Given the description of an element on the screen output the (x, y) to click on. 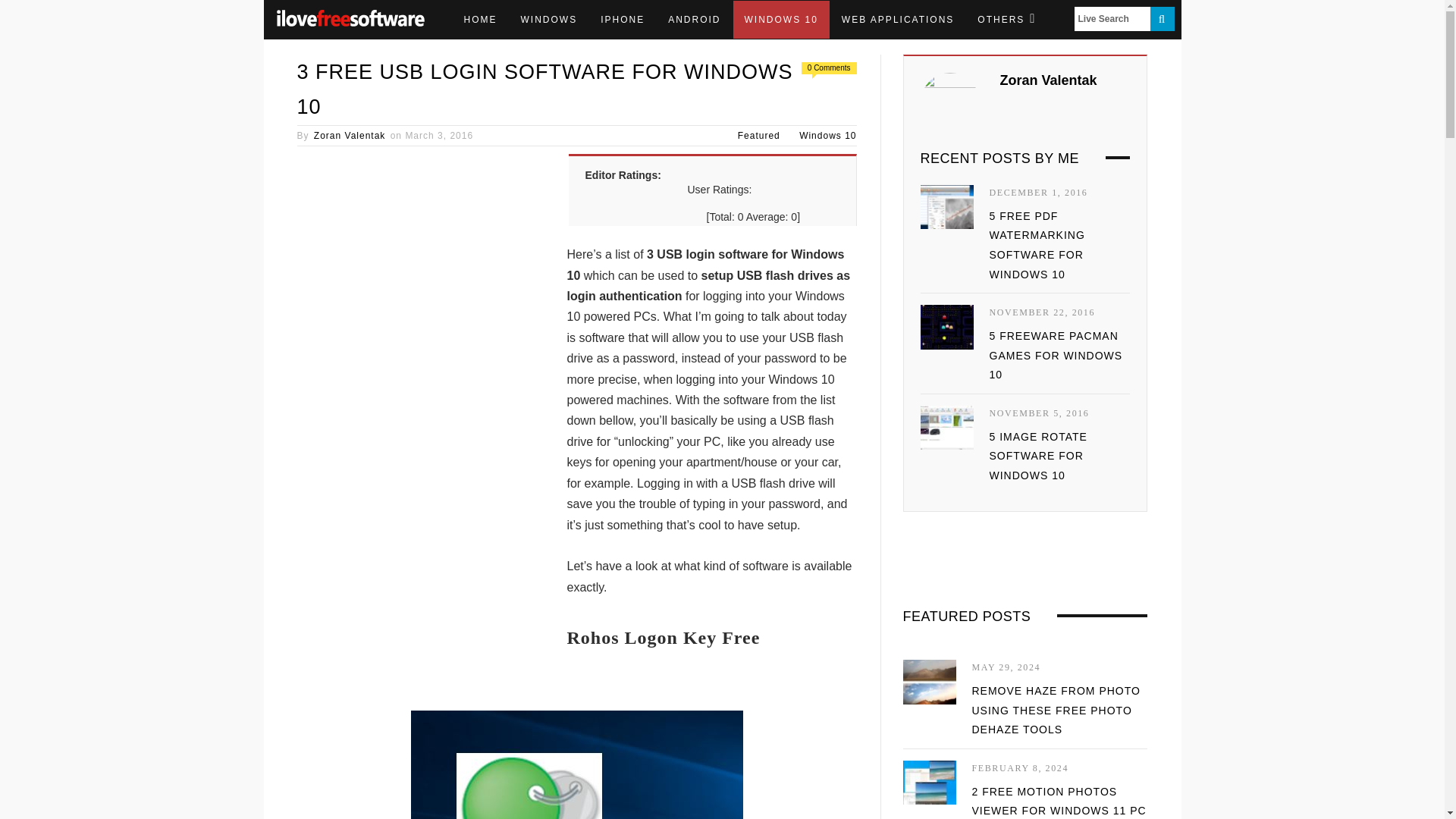
Windows 10 (827, 135)
Advertisement (424, 561)
SEARCH (1161, 18)
WINDOWS 10 (781, 19)
WINDOWS (549, 19)
0 Comments (829, 67)
0 Comments (829, 67)
OTHERS (1006, 19)
Featured (759, 135)
Zoran Valentak (349, 135)
WEB APPLICATIONS (897, 19)
HOME (479, 19)
IPHONE (622, 19)
ANDROID (694, 19)
Posts by Zoran Valentak (349, 135)
